Given the description of an element on the screen output the (x, y) to click on. 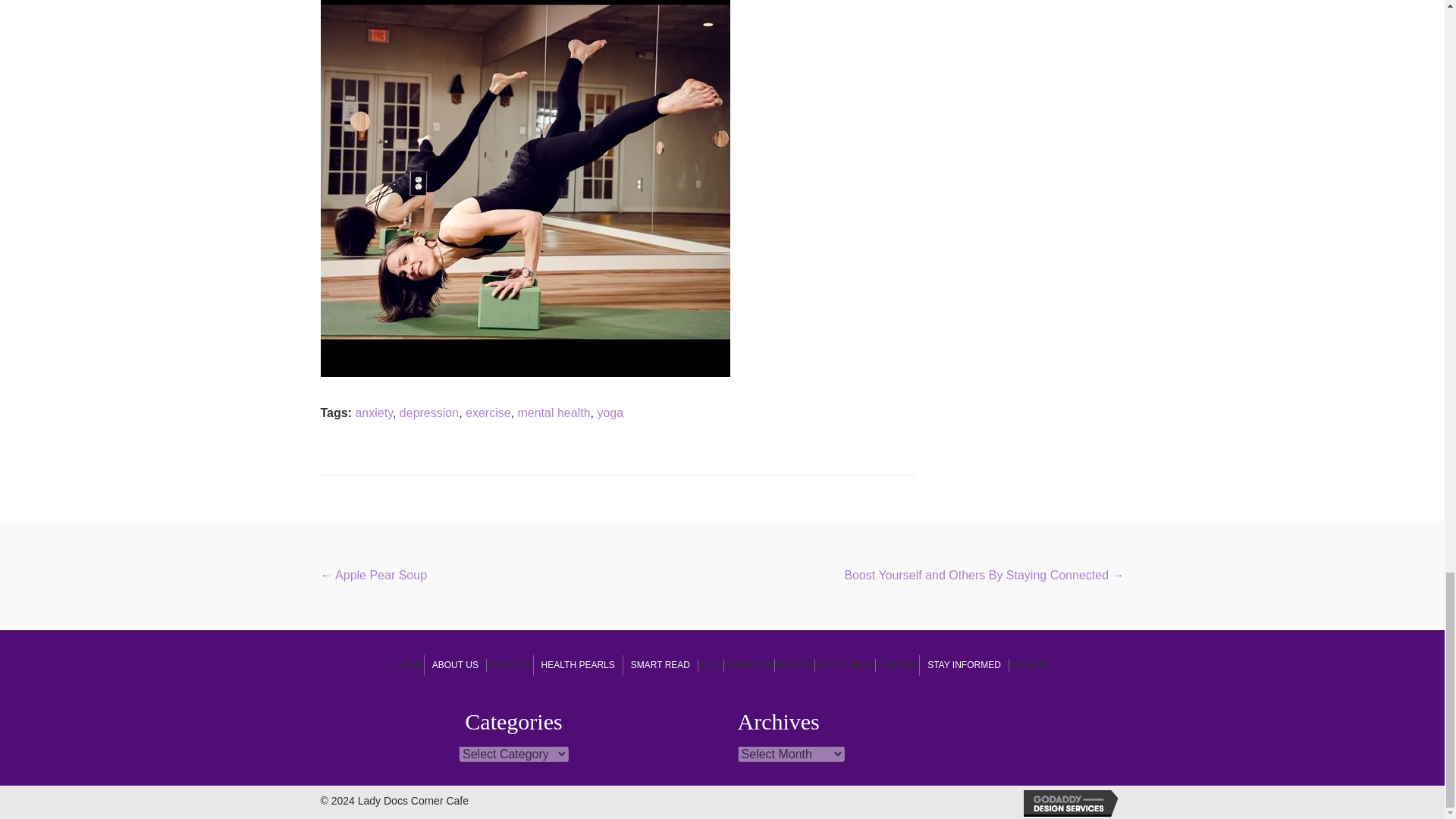
mental health (552, 412)
SMART READ (660, 665)
HEALTH PEARLS (578, 665)
exercise (488, 412)
STAY INFORMED (964, 665)
yoga (609, 412)
anxiety (374, 412)
ABOUT US (455, 665)
depression (428, 412)
